Given the description of an element on the screen output the (x, y) to click on. 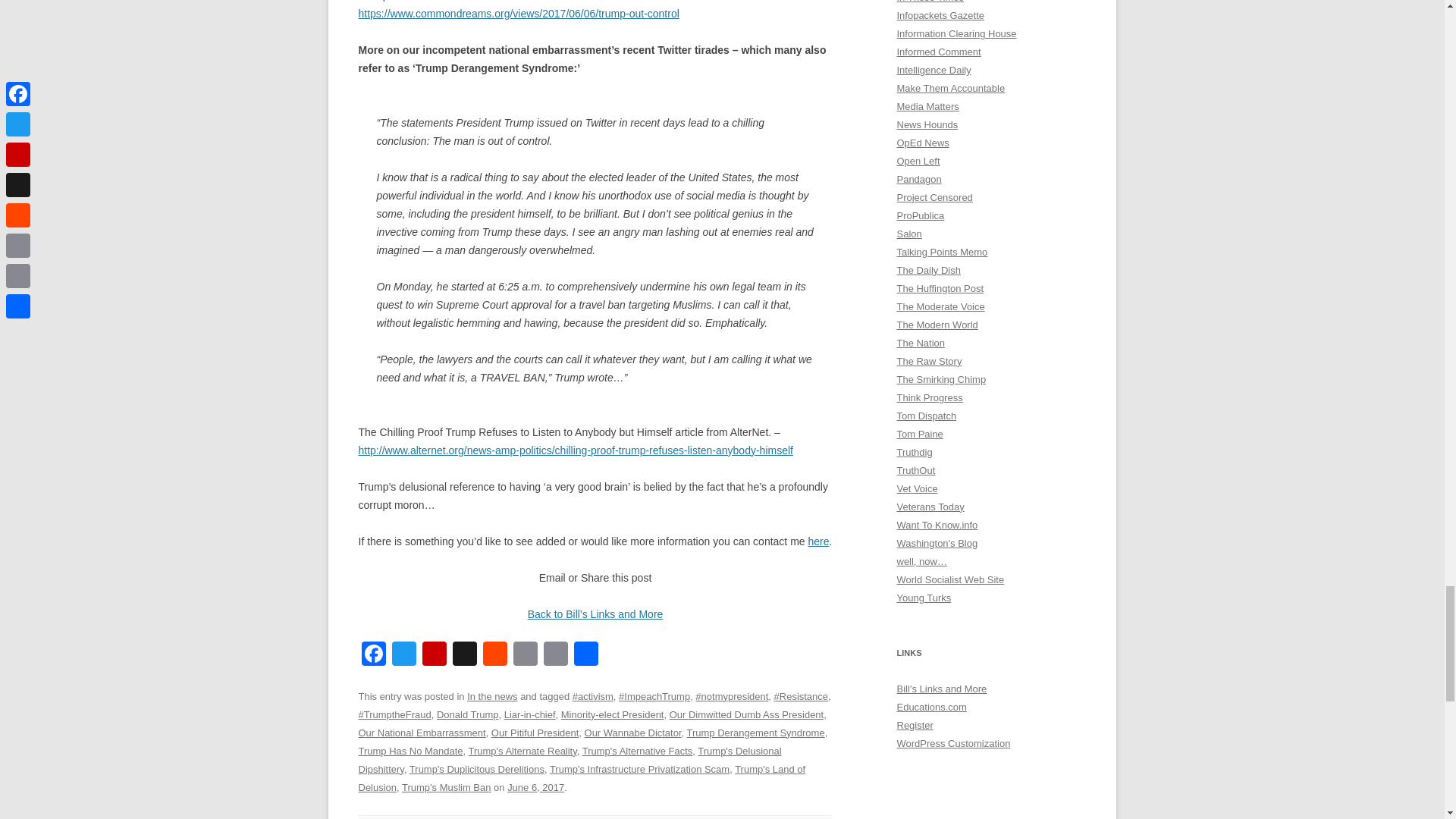
Twitter (403, 655)
Email (555, 655)
Back to Bill's Links and More (595, 613)
Link to send me an email. (818, 541)
Flipboard (433, 655)
Digg (463, 655)
Reddit (494, 655)
Print (524, 655)
Facebook (373, 655)
